Given the description of an element on the screen output the (x, y) to click on. 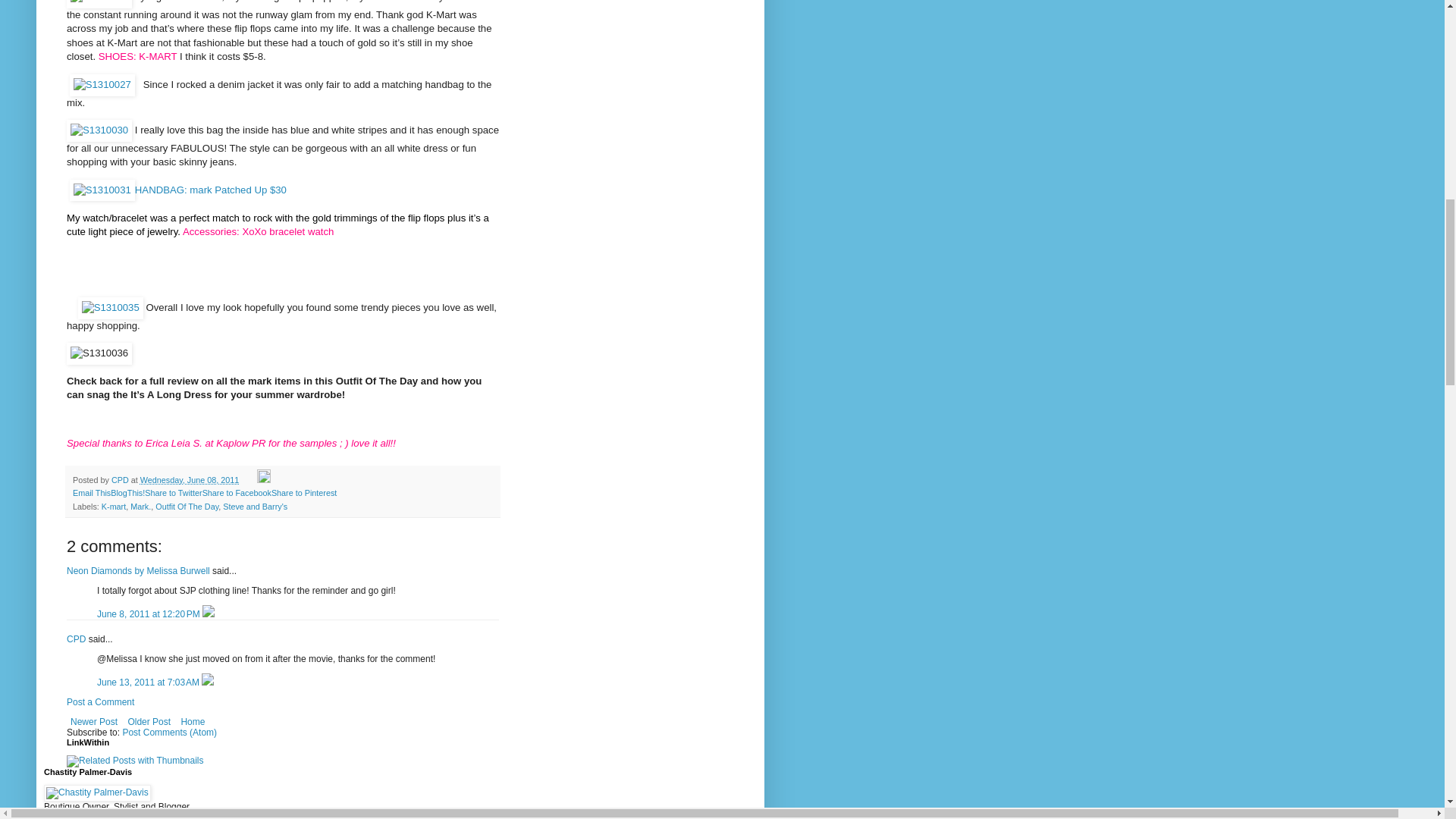
Share to Pinterest (303, 492)
CPD (121, 479)
Neon Diamonds by Melissa Burwell (137, 570)
permanent link (188, 479)
S1310030 (99, 129)
CPD (75, 638)
S1310027 (102, 84)
Share to Twitter (173, 492)
Mark. (141, 506)
S1310036 (99, 353)
S1310035 (110, 307)
Email This (91, 492)
Edit Post (263, 479)
Wednesday, June 08, 2011 (188, 479)
